Given the description of an element on the screen output the (x, y) to click on. 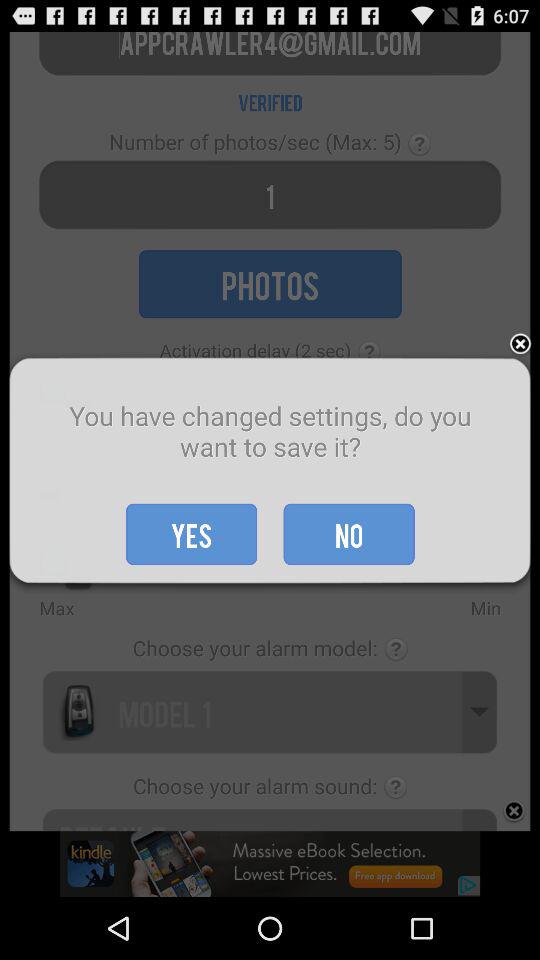
exit (520, 344)
